Given the description of an element on the screen output the (x, y) to click on. 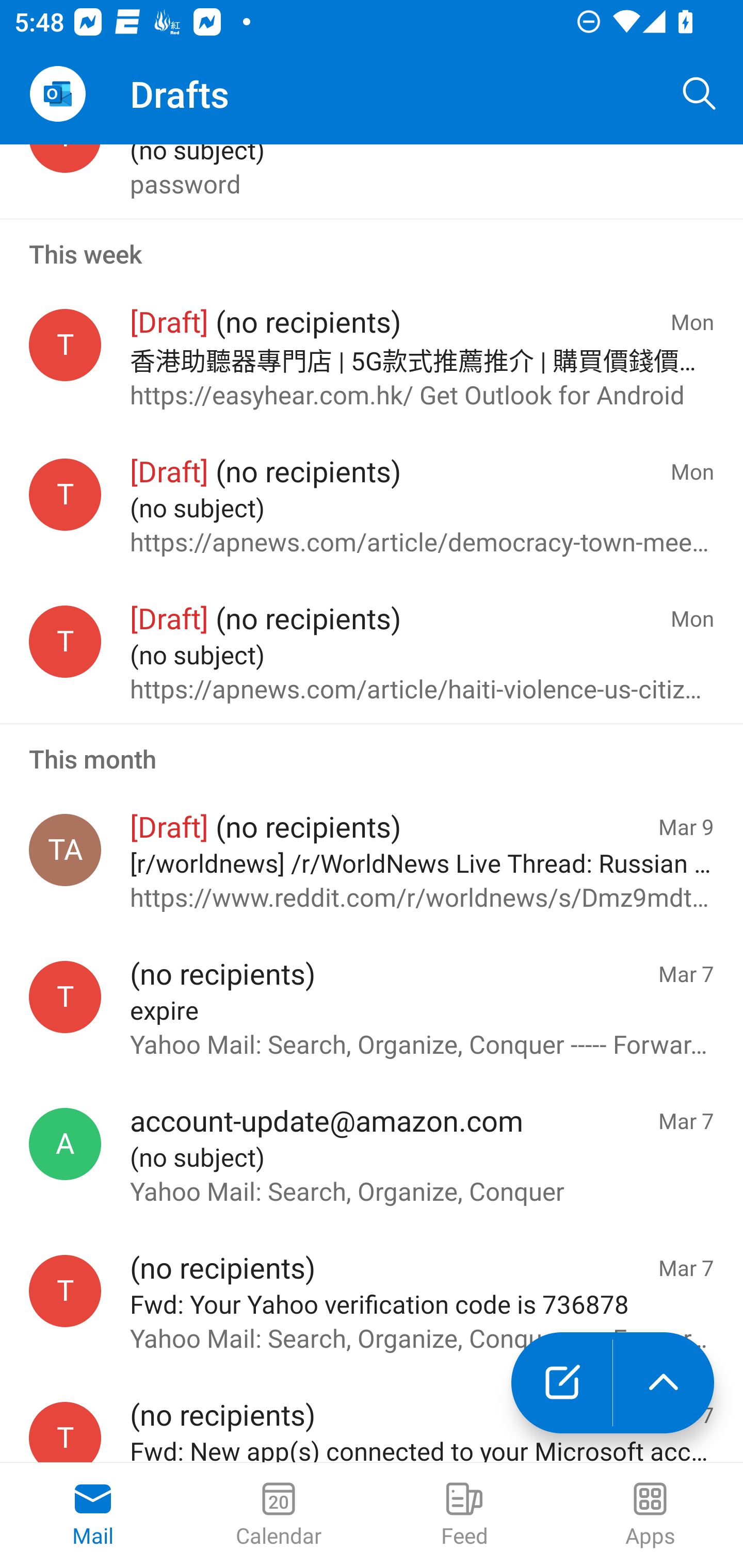
Search, ,  (699, 93)
Open Navigation Drawer (57, 94)
testappium002@outlook.com (64, 344)
testappium002@outlook.com (64, 493)
testappium002@outlook.com (64, 641)
Test Appium, testappium002@outlook.com (64, 849)
testappium002@outlook.com (64, 997)
testappium002@outlook.com (64, 1290)
New mail (561, 1382)
launch the extended action menu (663, 1382)
testappium002@outlook.com (64, 1431)
Calendar (278, 1515)
Feed (464, 1515)
Apps (650, 1515)
